Given the description of an element on the screen output the (x, y) to click on. 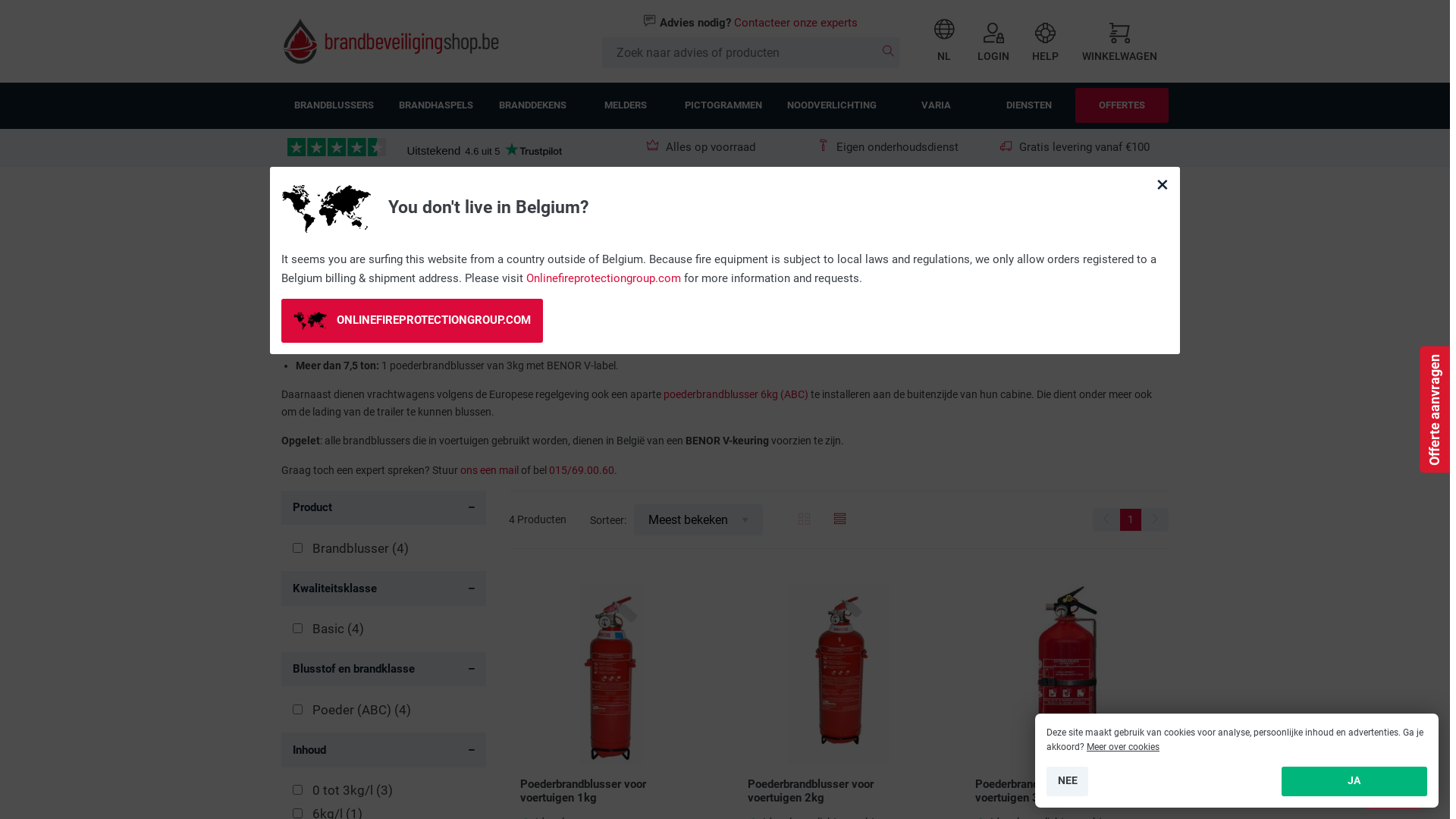
WINKELWAGEN Element type: text (1118, 40)
poederbrandblusser 6kg (ABC) Element type: text (735, 394)
Opens a widget where you can find more information Element type: hover (1392, 792)
PICTOGRAMMEN Element type: text (722, 105)
Brandblussers Element type: text (355, 196)
DIENSTEN Element type: text (1029, 105)
NEE Element type: text (1067, 781)
VARIA Element type: text (935, 105)
JA Element type: text (1353, 781)
Vrachtwagen Element type: text (482, 196)
ons een mail Element type: text (489, 470)
Onlinefireprotectiongroup.com Element type: text (603, 278)
BRANDBLUSSERS Element type: text (333, 105)
Inhoud Element type: text (383, 749)
Eigen onderhoudsdienst Element type: text (887, 146)
Home Element type: text (293, 196)
Customer reviews powered by Trustpilot Element type: hover (484, 149)
ONLINEFIREPROTECTIONGROUP.COM Element type: text (411, 320)
NL Element type: text (944, 40)
LOGIN Element type: text (993, 40)
brandblussers voor een vrachtwagen Element type: text (1014, 272)
Meer over cookies Element type: text (1122, 746)
HELP Element type: text (1045, 40)
Locatie Element type: text (420, 196)
MELDERS Element type: text (625, 105)
Blusstof en brandklasse Element type: text (383, 669)
OFFERTES Element type: text (1121, 104)
Page
1 Element type: text (1130, 519)
BRANDDEKENS Element type: text (532, 105)
BRANDHASPELS Element type: text (436, 105)
Kwaliteitsklasse Element type: text (383, 588)
015/69.00.60 Element type: text (581, 470)
Product Element type: text (383, 507)
Customer reviews powered by Trustpilot Element type: hover (336, 149)
Contacteer onze experts Element type: text (795, 22)
NOODVERLICHTING Element type: text (832, 105)
